Given the description of an element on the screen output the (x, y) to click on. 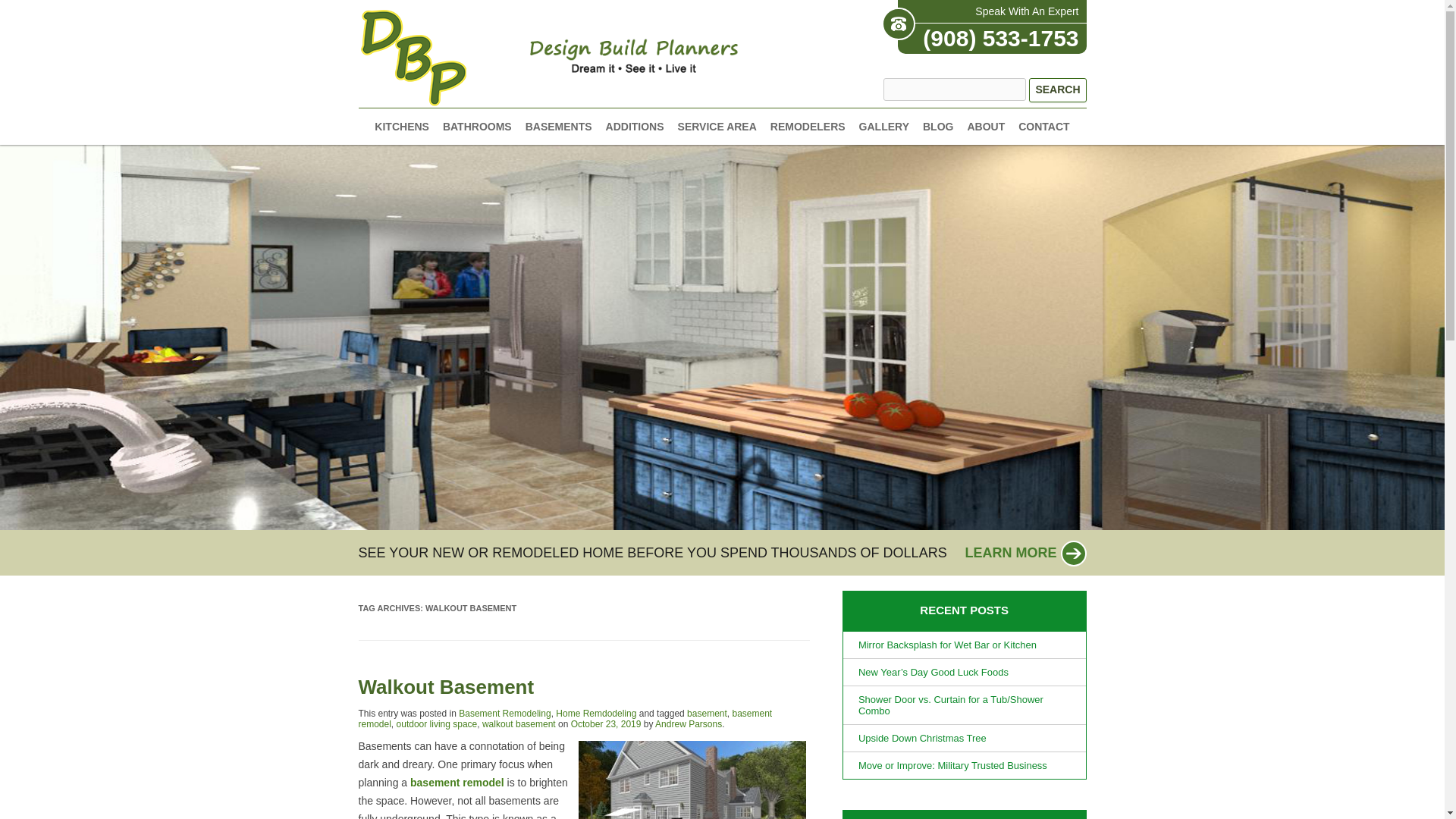
Search (1057, 89)
REMODELERS (807, 126)
SERVICE AREA (717, 126)
BATHROOMS (477, 126)
8:36 PM (606, 724)
CONTACT (1042, 126)
BASEMENTS (558, 126)
GALLERY (883, 126)
Search (1057, 89)
ABOUT (985, 126)
ADDITIONS (634, 126)
KITCHENS (401, 126)
View all posts by Andrew Parsons (688, 724)
